Given the description of an element on the screen output the (x, y) to click on. 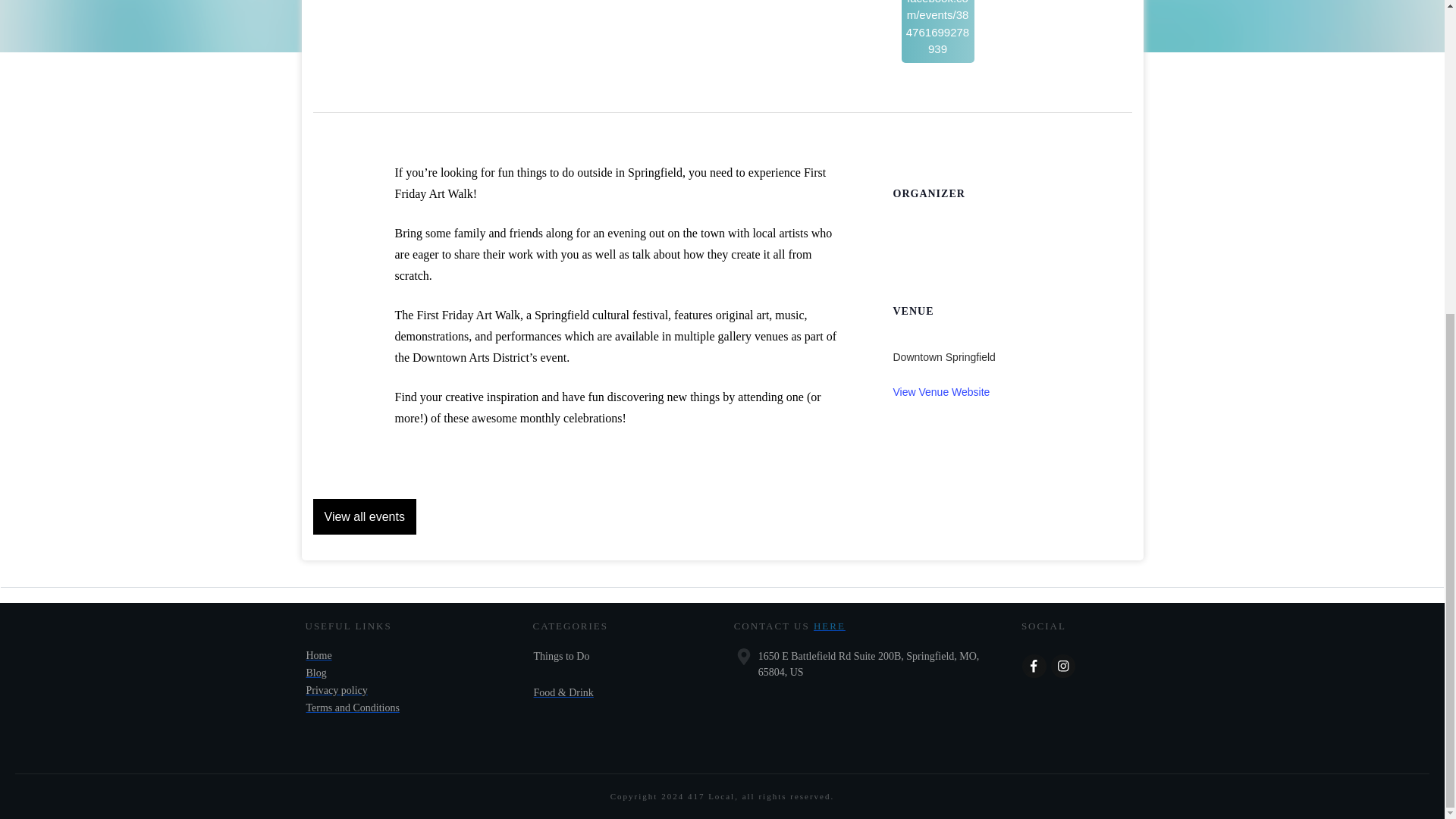
Things to Do (561, 655)
HERE (829, 625)
Terms and Conditions (351, 707)
Privacy policy (336, 690)
View Venue Website (941, 391)
Blog (315, 672)
Home (318, 655)
View all events (363, 516)
